Given the description of an element on the screen output the (x, y) to click on. 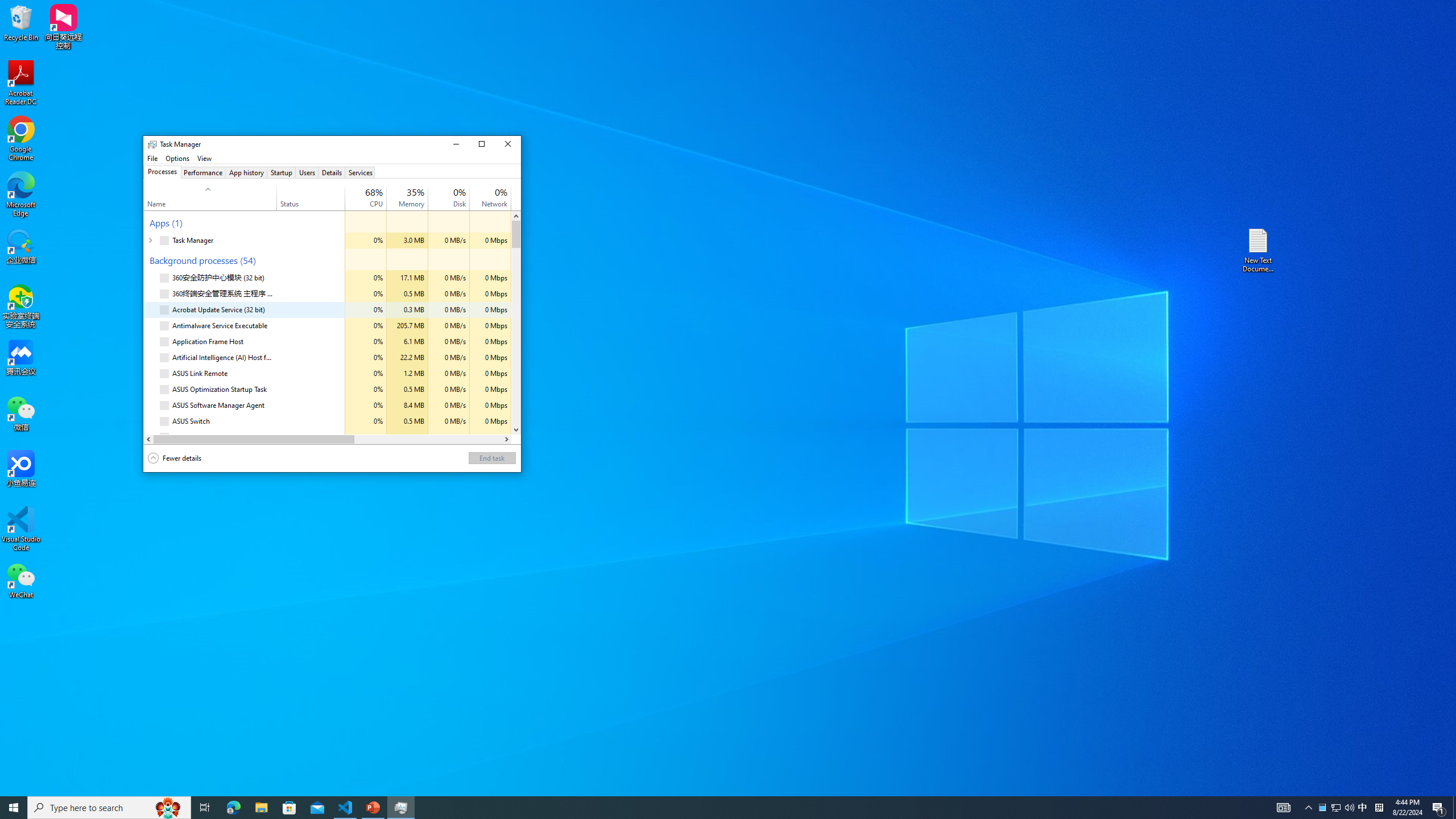
Memory (407, 437)
Fewer details (175, 458)
File (151, 158)
Column left (148, 438)
Startup (281, 171)
Users (306, 171)
End task (491, 457)
App history (246, 171)
0% (500, 191)
36% (415, 191)
Vertical (516, 322)
Network (490, 437)
